Given the description of an element on the screen output the (x, y) to click on. 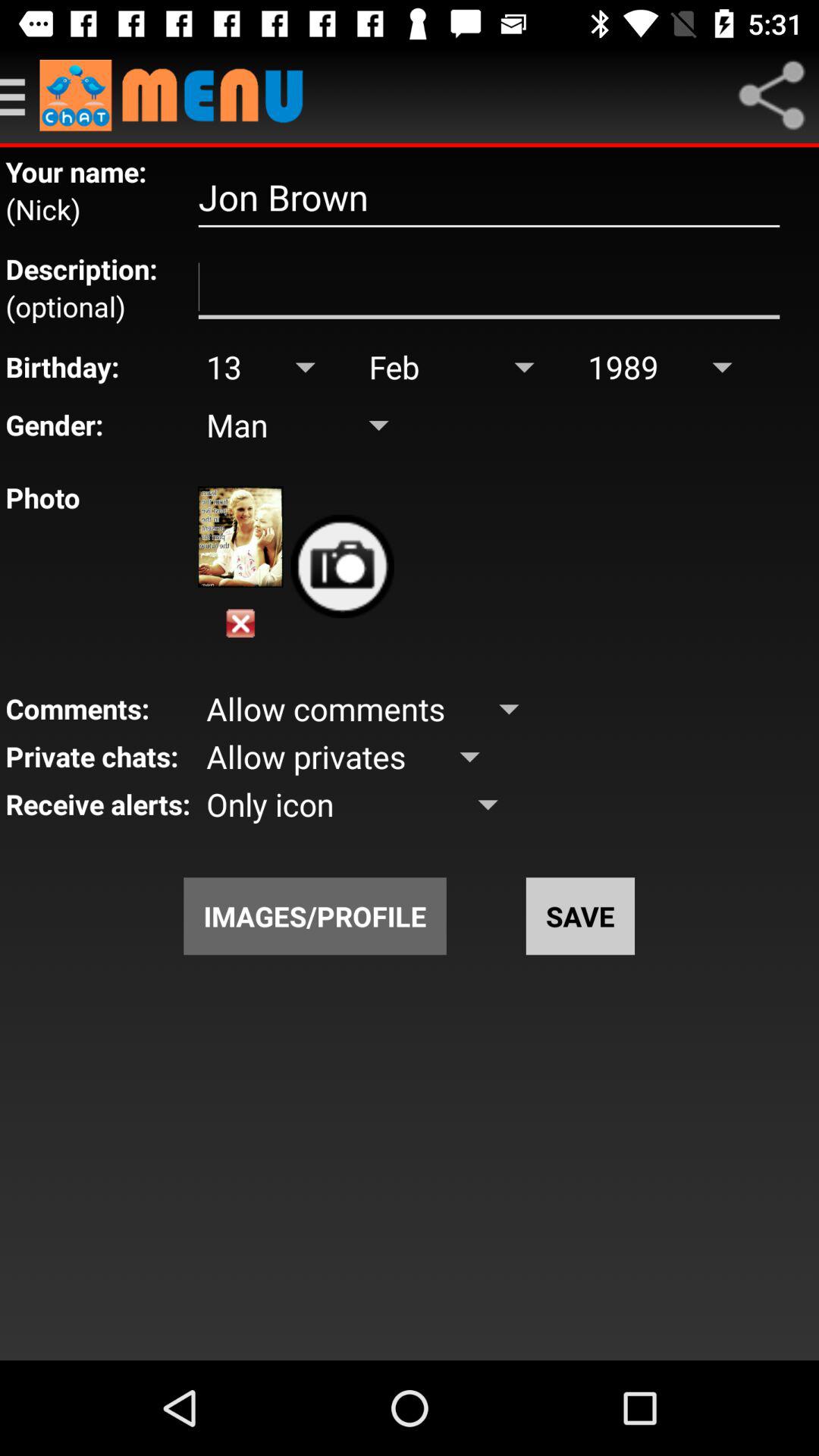
close button (240, 623)
